Given the description of an element on the screen output the (x, y) to click on. 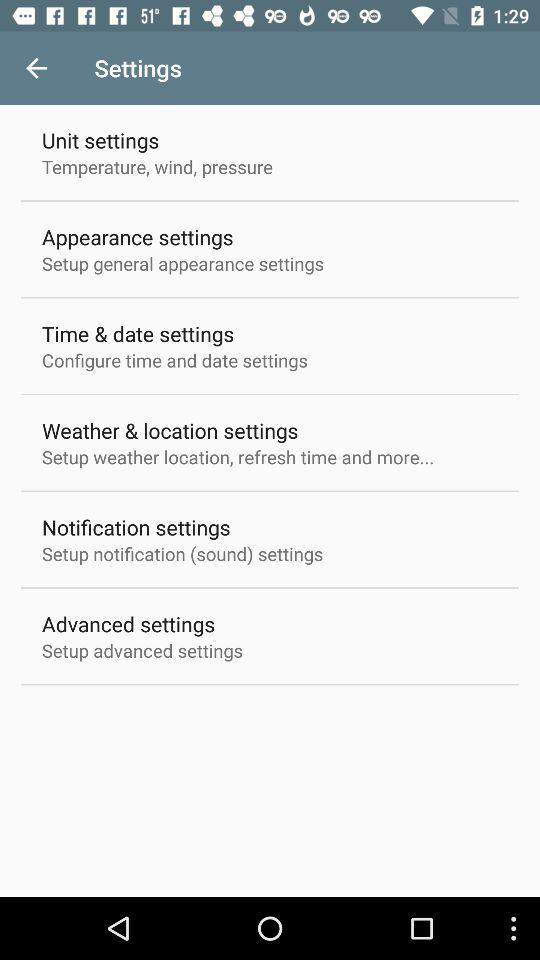
select the item above the advanced settings icon (182, 553)
